Given the description of an element on the screen output the (x, y) to click on. 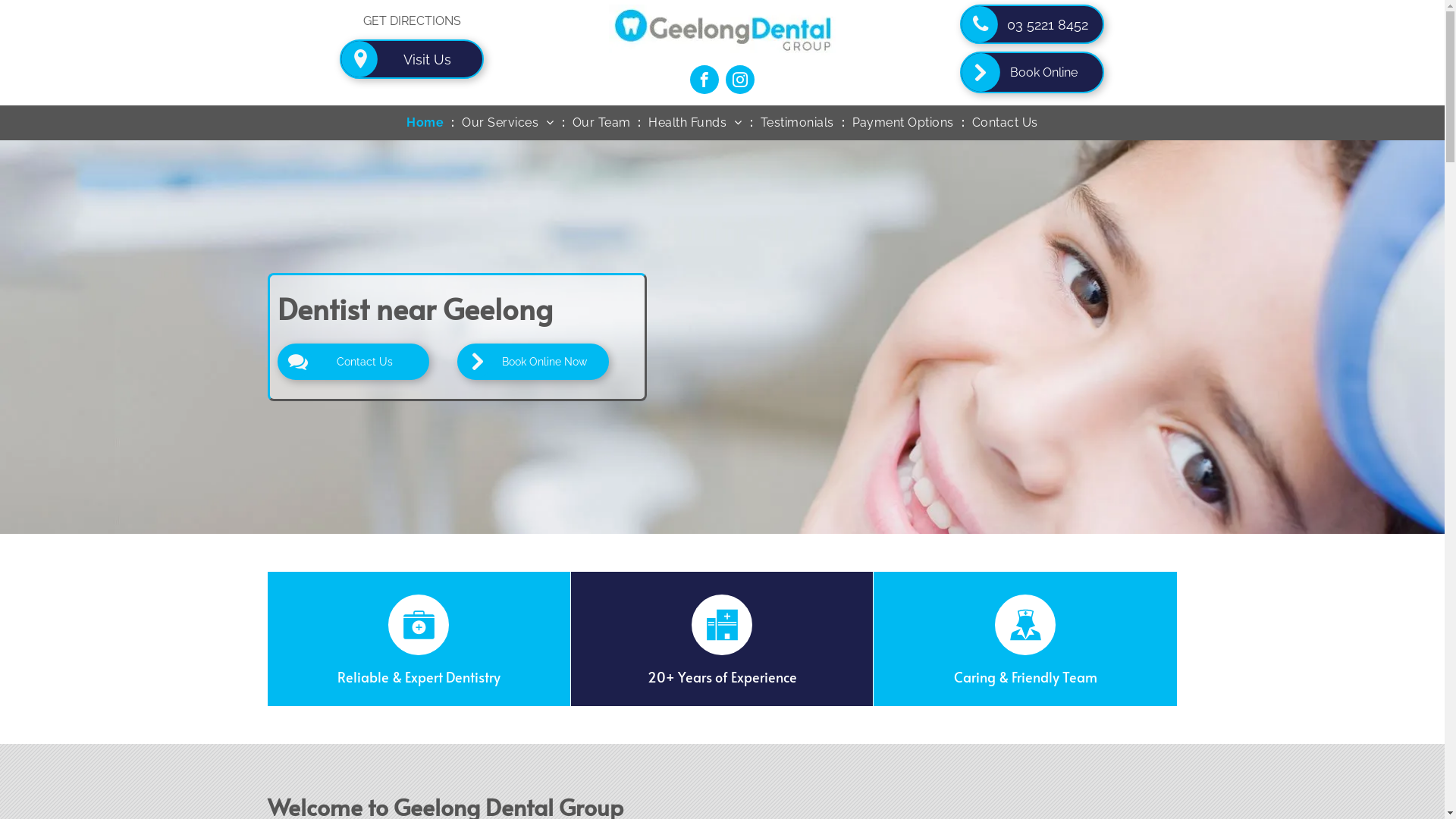
Contact Us Element type: text (1004, 122)
Contact Us Element type: text (353, 361)
Our Team Element type: text (601, 122)
Book Online Element type: text (1032, 72)
03 5221 8452 Element type: text (1032, 23)
Testimonials Element type: text (797, 122)
Health Funds Element type: text (694, 122)
Book Online Now Element type: text (532, 361)
Visit Us Element type: text (411, 58)
Home Element type: text (424, 122)
Our Services Element type: text (507, 122)
Payment Options Element type: text (902, 122)
